Given the description of an element on the screen output the (x, y) to click on. 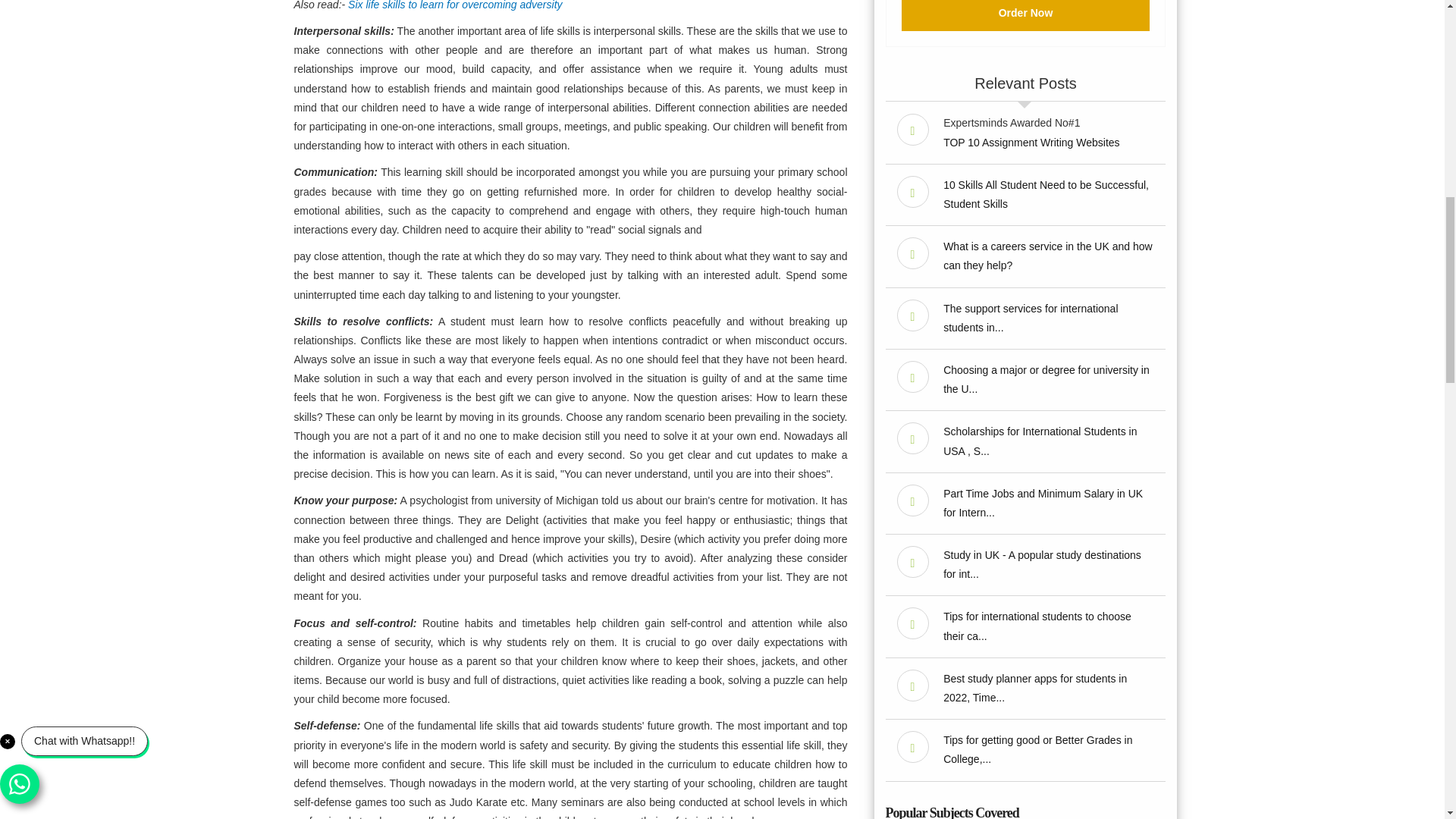
Six life skills to learn for overcoming adversity (454, 5)
